Given the description of an element on the screen output the (x, y) to click on. 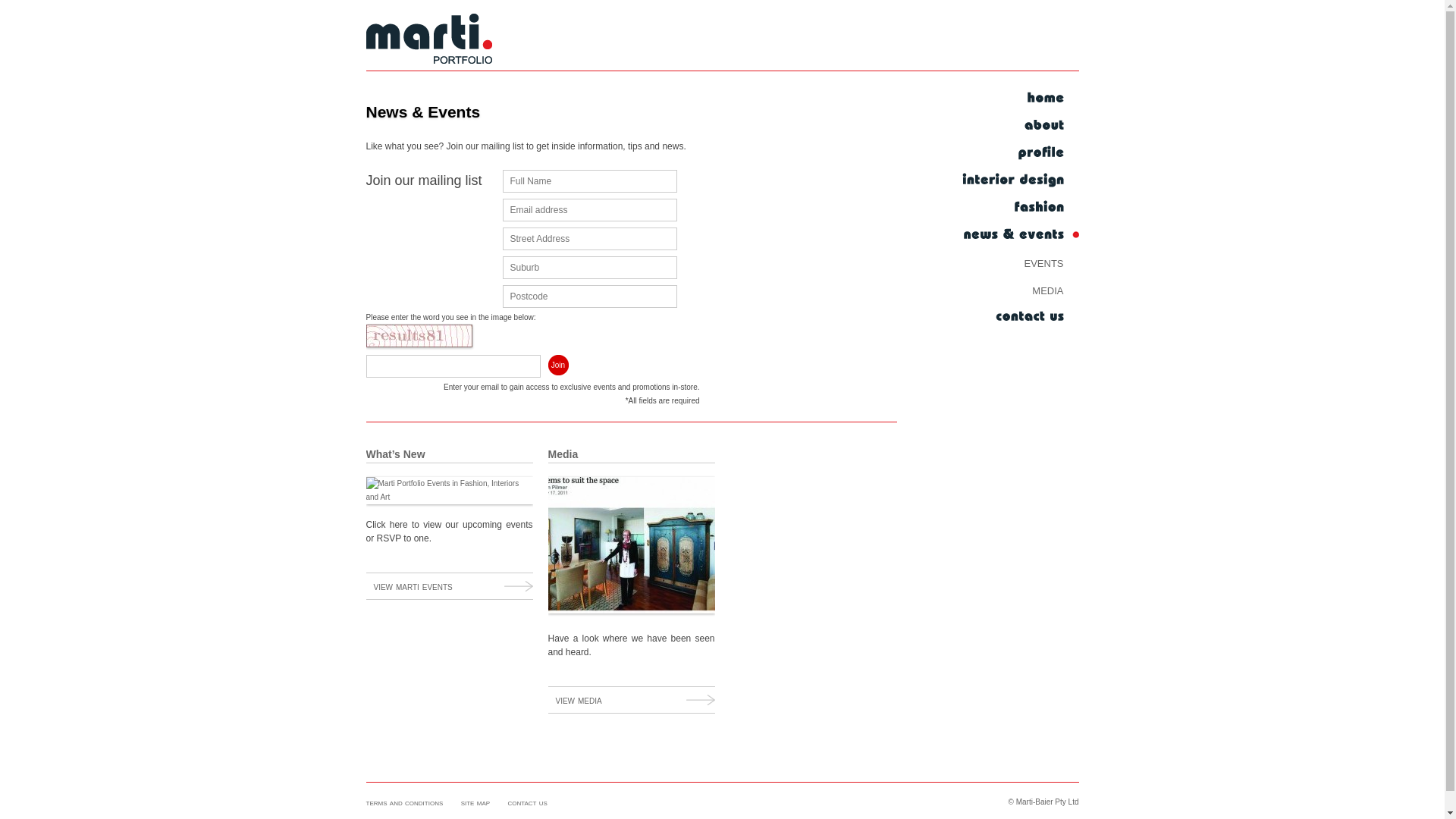
Marti Portfolio Events in Fashion, Interiors and Art Element type: hover (448, 490)
Media Element type: text (562, 454)
News & Events Element type: text (422, 111)
view media Element type: text (630, 699)
  Element type: text (1017, 180)
view marti events Element type: text (448, 585)
site map Element type: text (475, 802)
Marti Portfolio Media articles Element type: hover (630, 544)
  Element type: text (1017, 316)
  Element type: text (1017, 234)
terms and conditions Element type: text (403, 802)
Join Element type: text (557, 364)
events Element type: text (1017, 262)
Marti Portfolio Element type: hover (428, 41)
  Element type: text (1017, 125)
media Element type: text (1017, 289)
  Element type: text (1017, 207)
contact us Element type: text (527, 802)
  Element type: text (1017, 98)
  Element type: text (1017, 152)
